Given the description of an element on the screen output the (x, y) to click on. 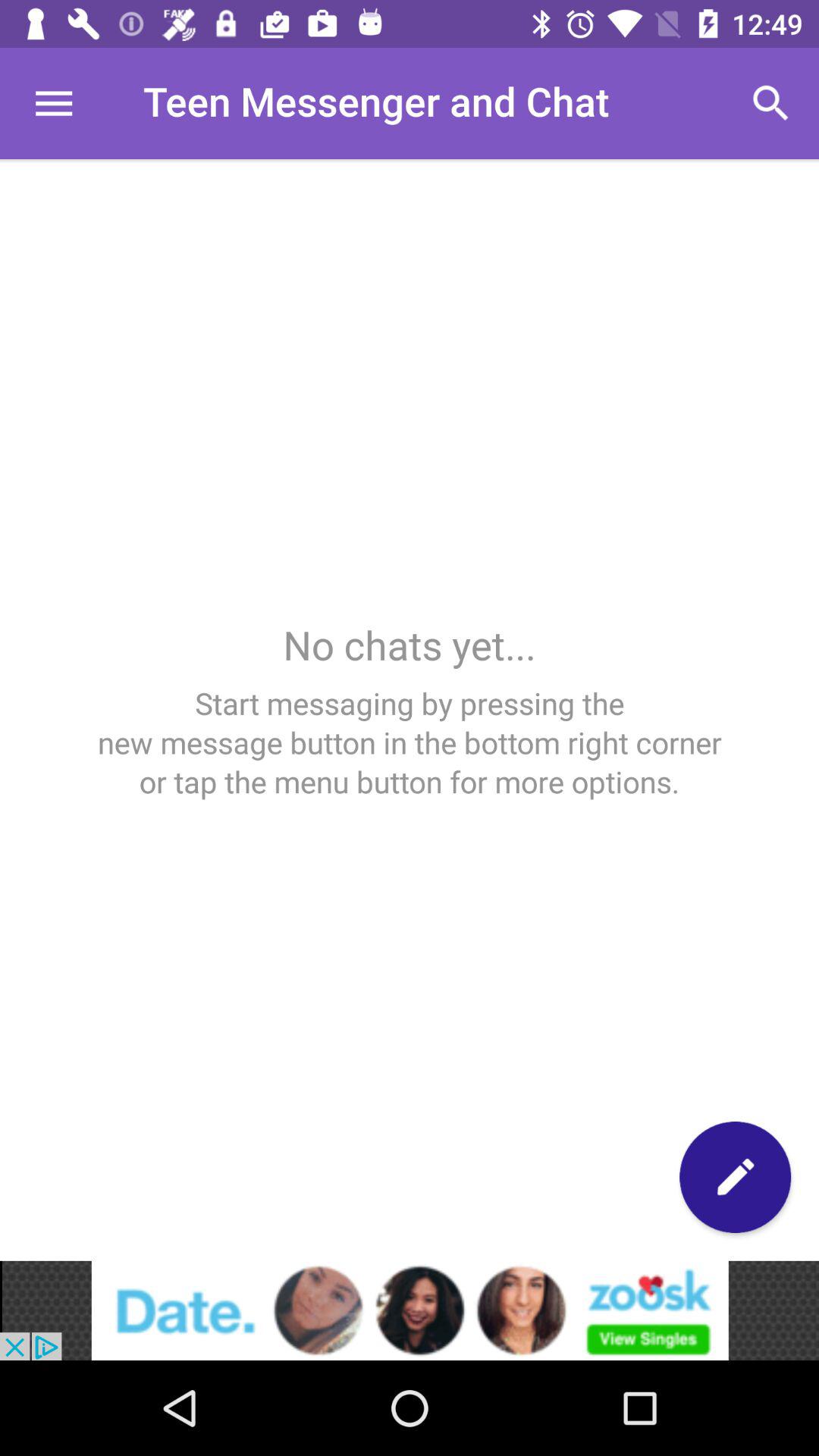
open advertisement (409, 1310)
